Given the description of an element on the screen output the (x, y) to click on. 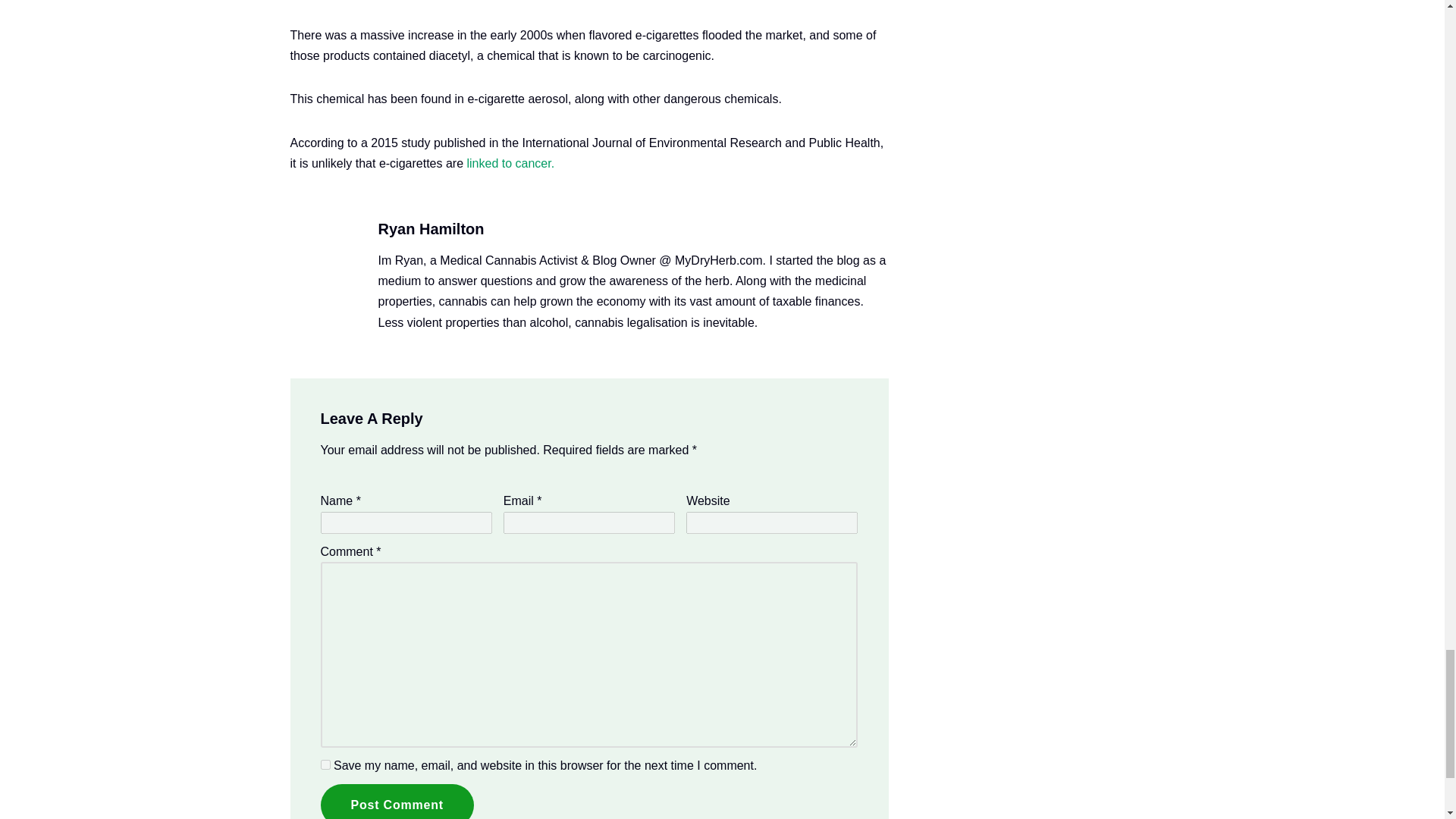
Post Comment (397, 801)
Post Comment (397, 801)
yes (325, 764)
linked to cancer. (508, 163)
